Given the description of an element on the screen output the (x, y) to click on. 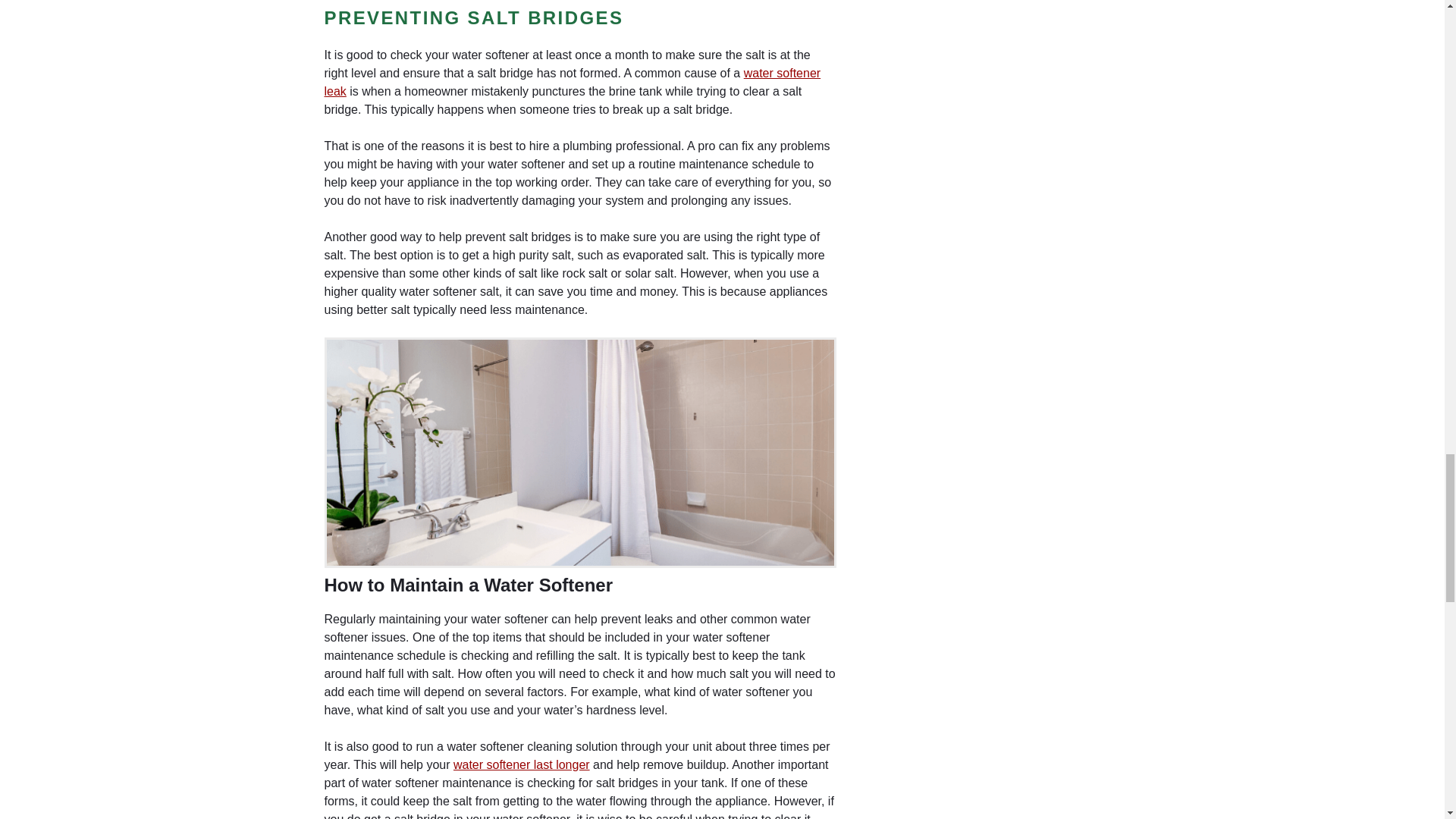
water softener last longer (520, 764)
water softener leak (572, 81)
